Given the description of an element on the screen output the (x, y) to click on. 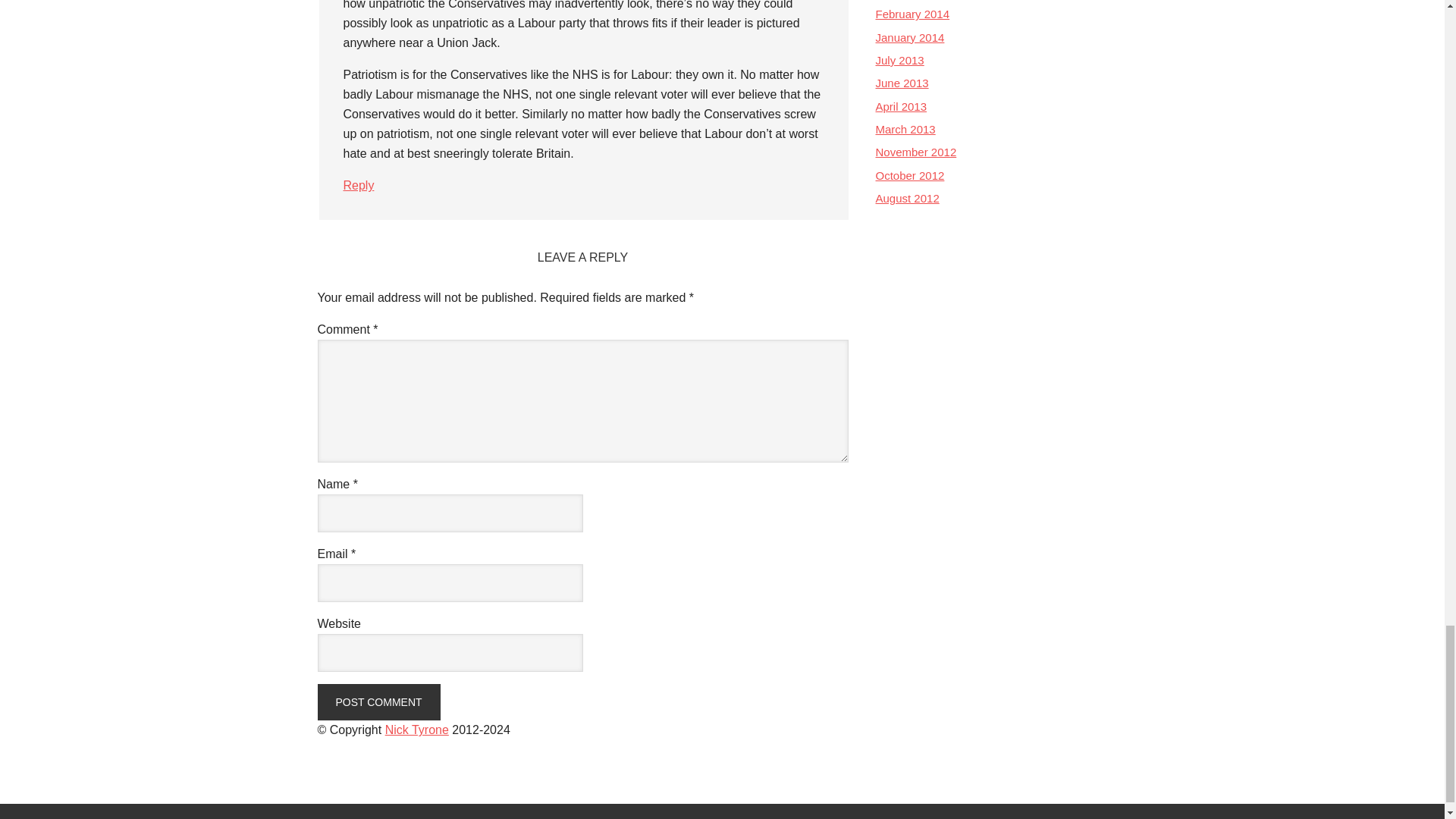
Post Comment (378, 701)
Reply (358, 185)
Post Comment (378, 701)
